Given the description of an element on the screen output the (x, y) to click on. 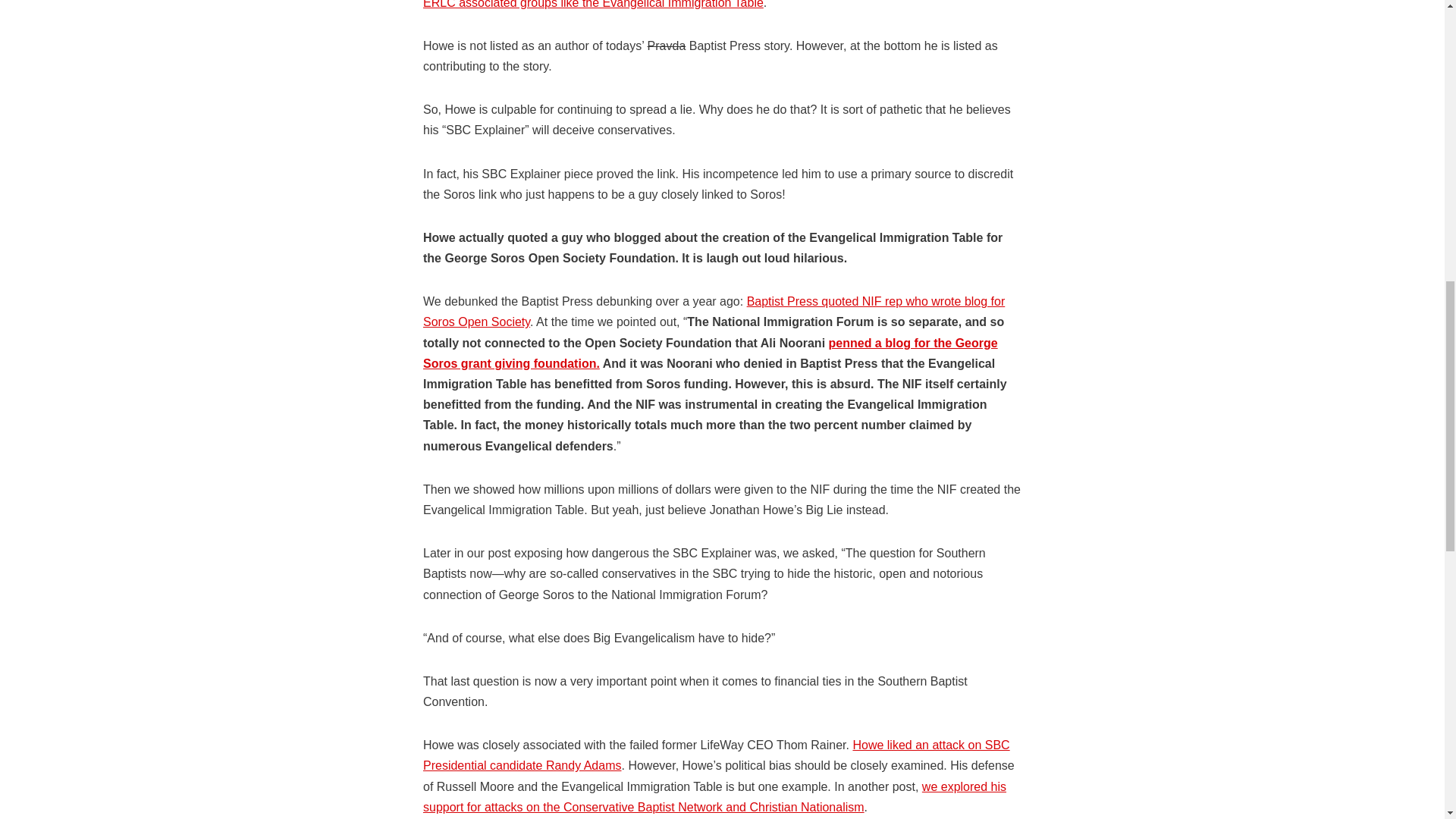
penned a blog for the George Soros grant giving foundation. (710, 353)
